Given the description of an element on the screen output the (x, y) to click on. 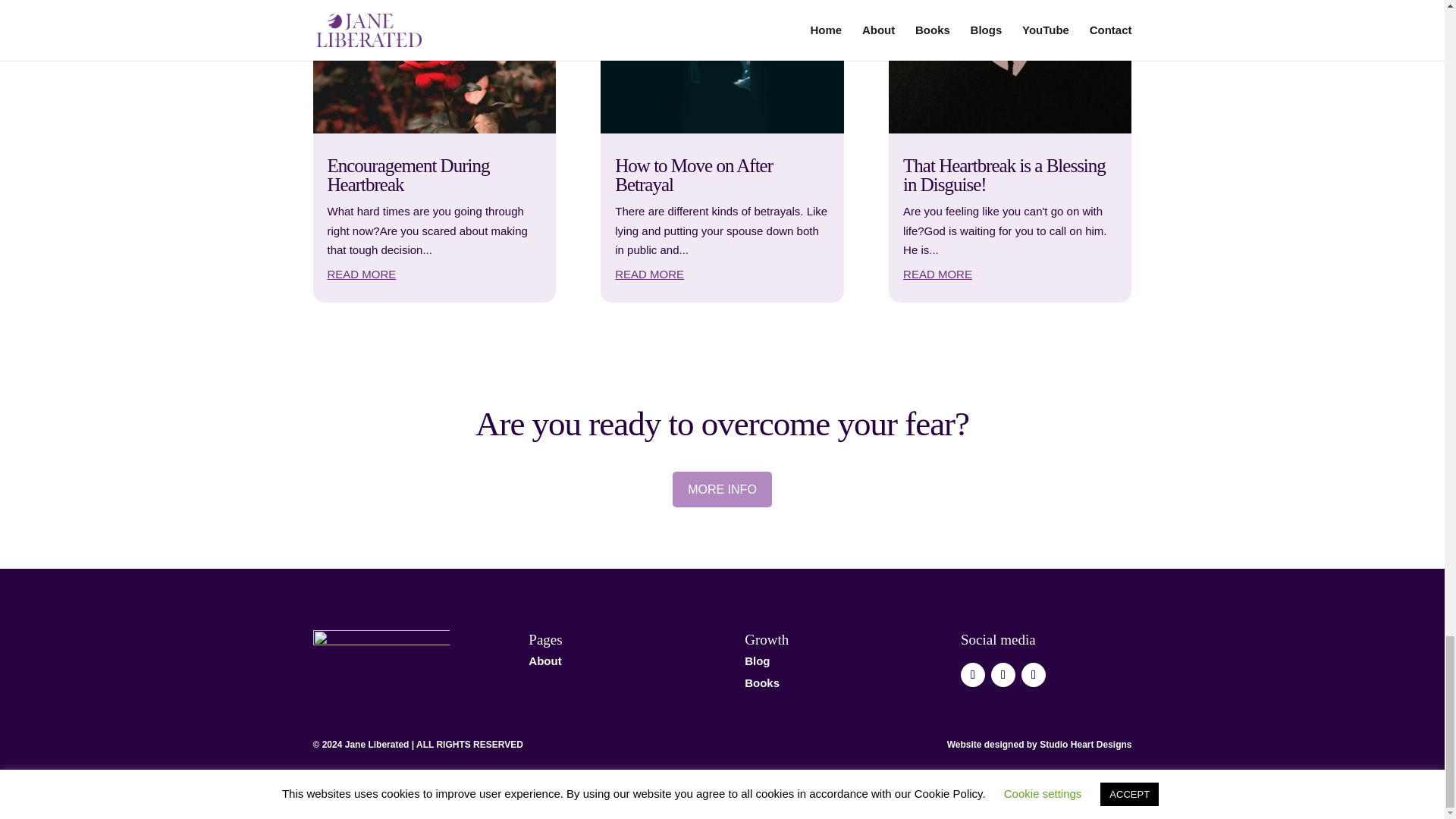
Follow on Instagram (1002, 674)
READ MORE (937, 273)
Encouragement During Heartbreak (408, 174)
MORE INFO (721, 488)
Follow on Youtube (972, 674)
logo jl white (380, 650)
That Heartbreak is a Blessing in Disguise! (1003, 174)
READ MORE (361, 273)
Follow on Pinterest (1033, 674)
How to Move on After Betrayal (693, 174)
READ MORE (649, 273)
